Given the description of an element on the screen output the (x, y) to click on. 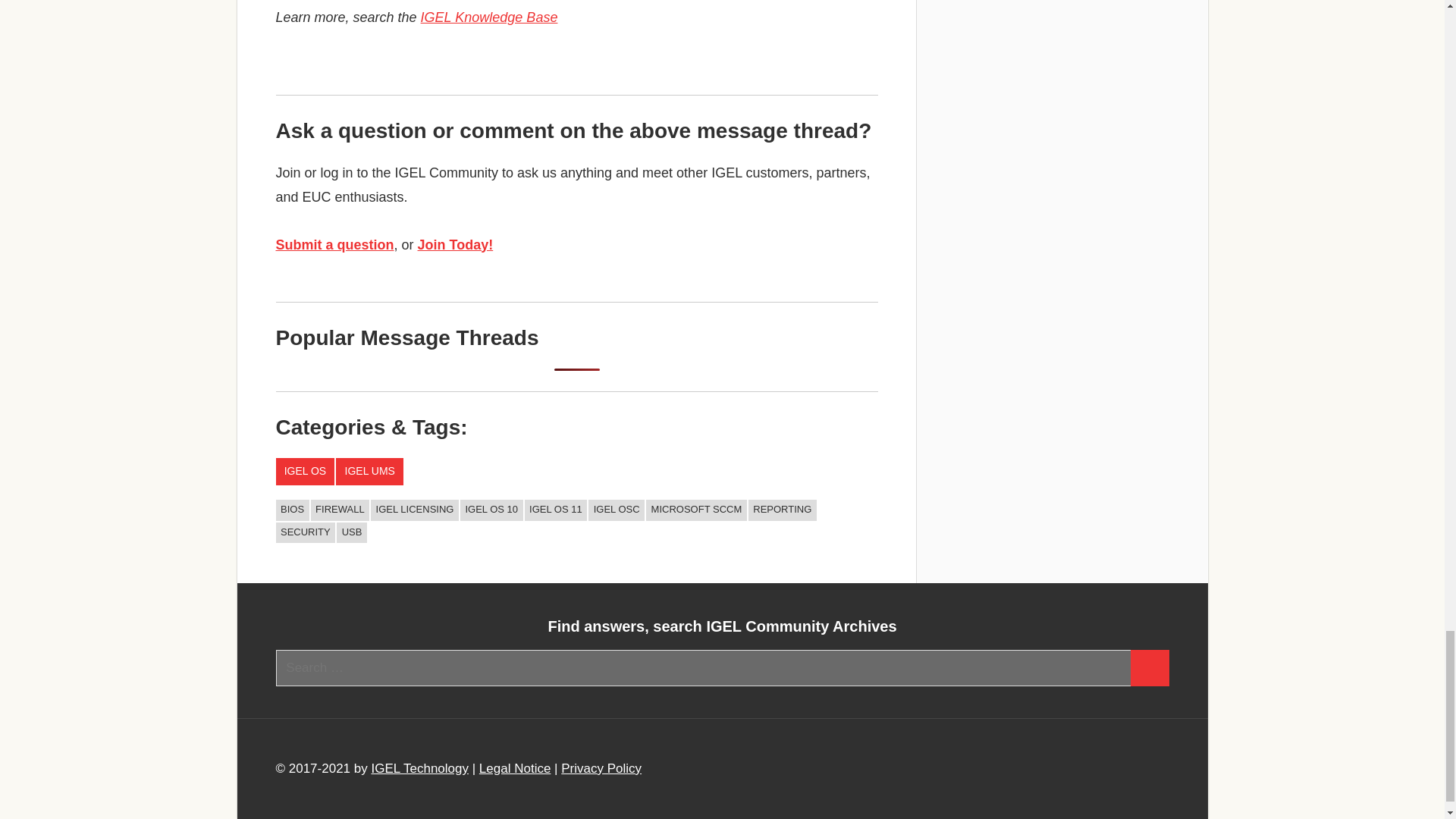
Search for: (704, 668)
